Given the description of an element on the screen output the (x, y) to click on. 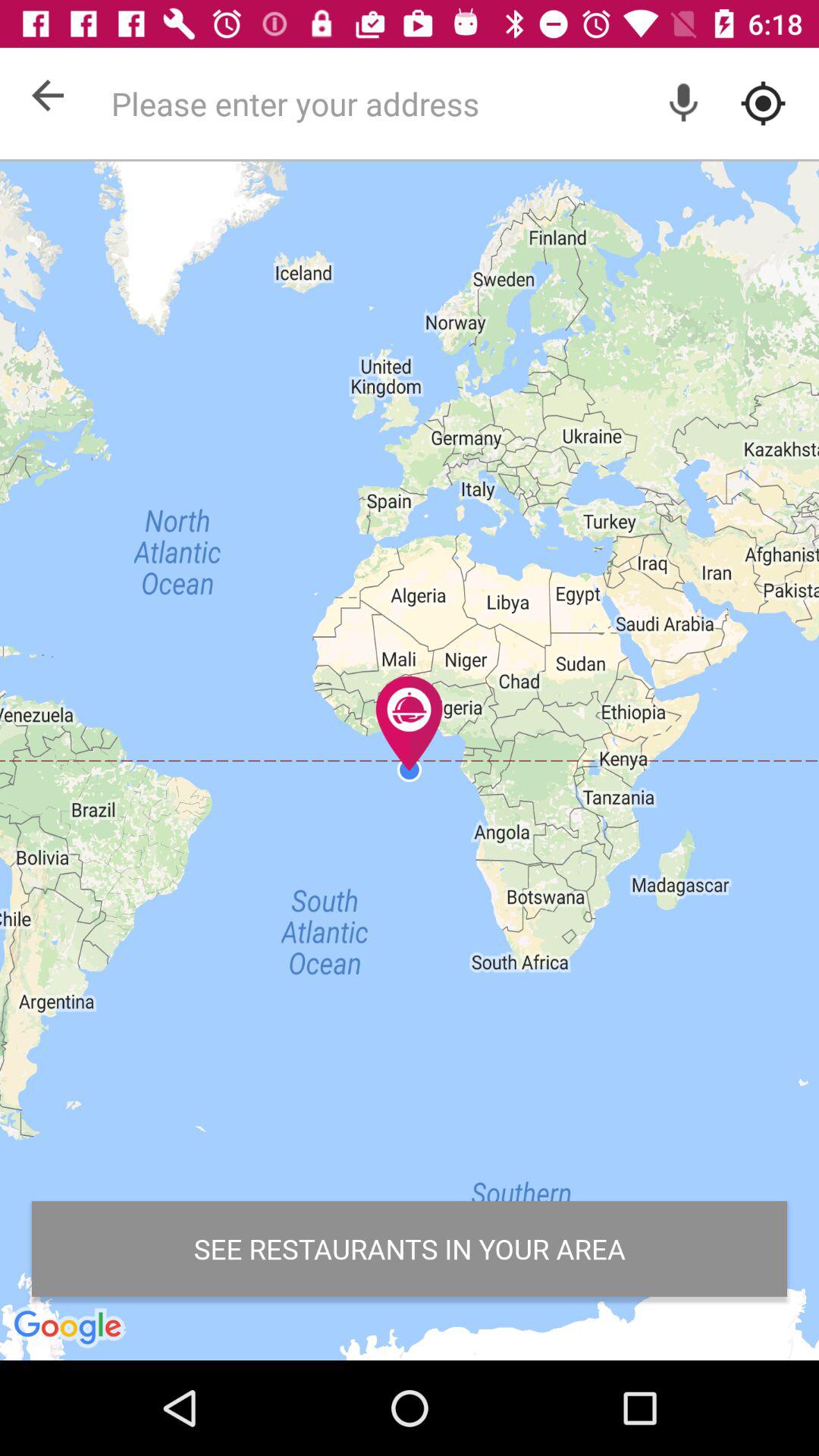
my current location (763, 103)
